Given the description of an element on the screen output the (x, y) to click on. 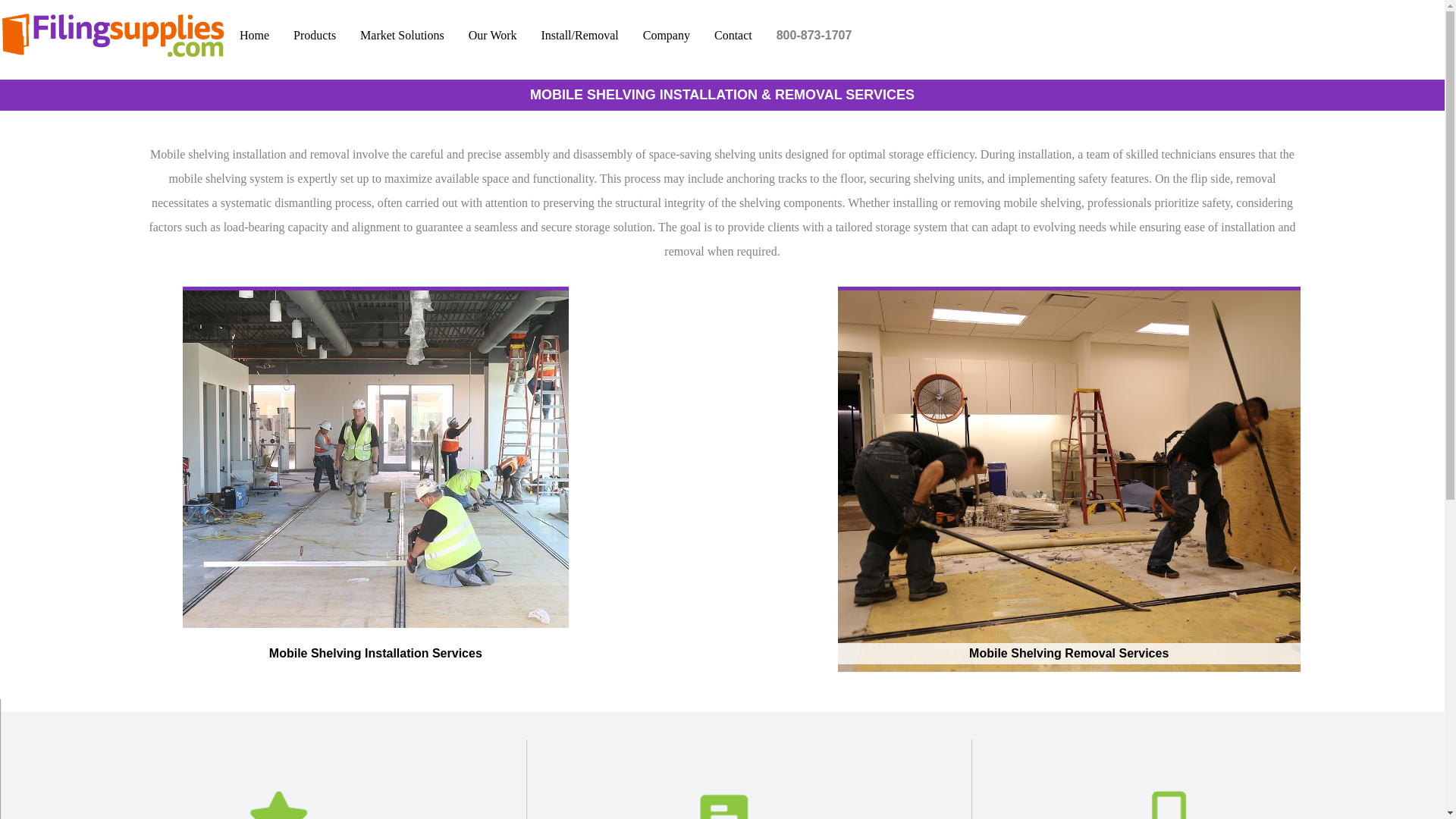
Home (254, 35)
Our Work (493, 35)
Market Solutions (401, 35)
Products (314, 35)
filingsupplies-mobile-logo.png (113, 35)
Products (315, 35)
Our Work (492, 35)
Market Solutions (402, 35)
